Given the description of an element on the screen output the (x, y) to click on. 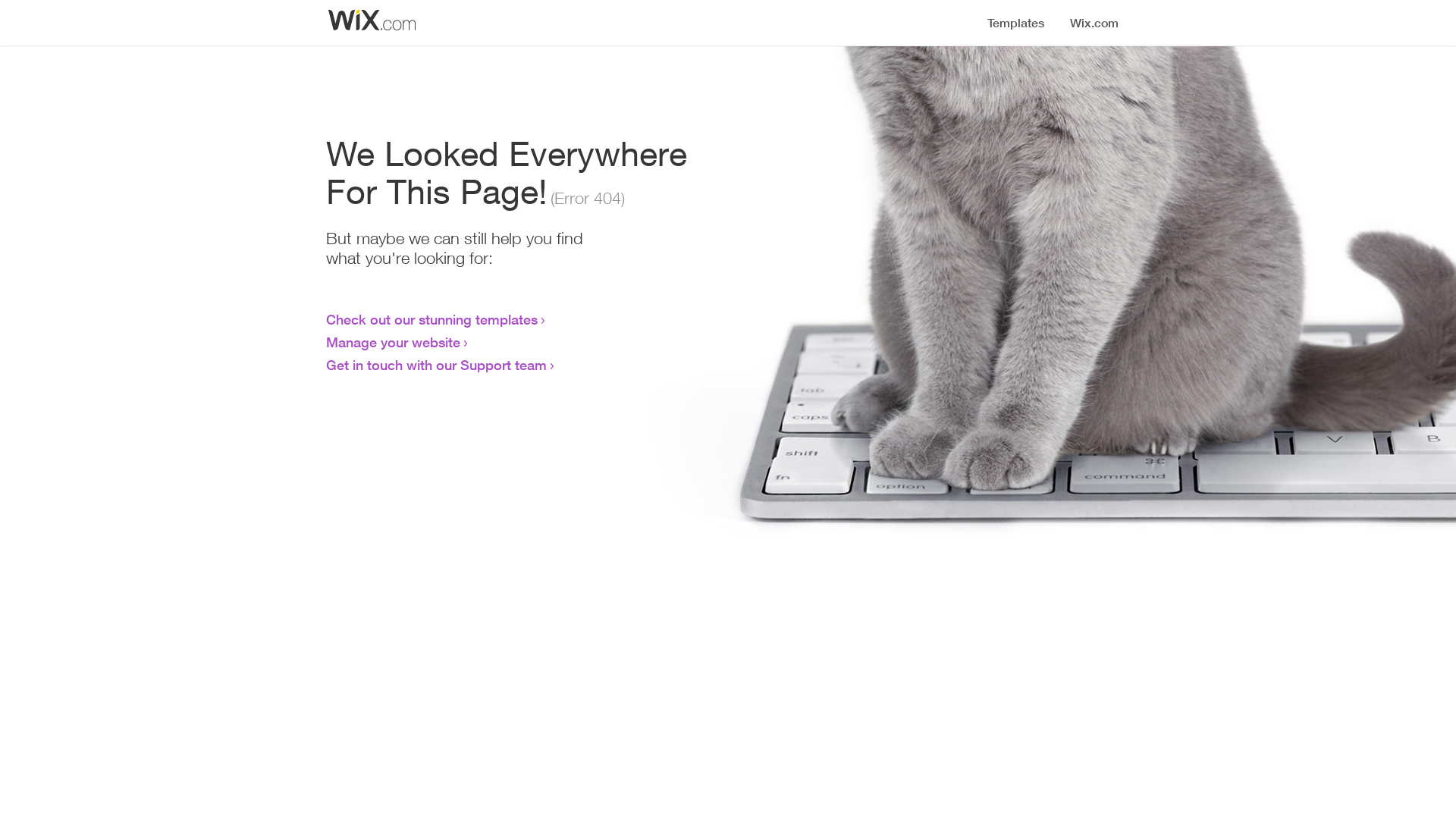
Get in touch with our Support team Element type: text (436, 364)
Check out our stunning templates Element type: text (431, 318)
Manage your website Element type: text (393, 341)
